Given the description of an element on the screen output the (x, y) to click on. 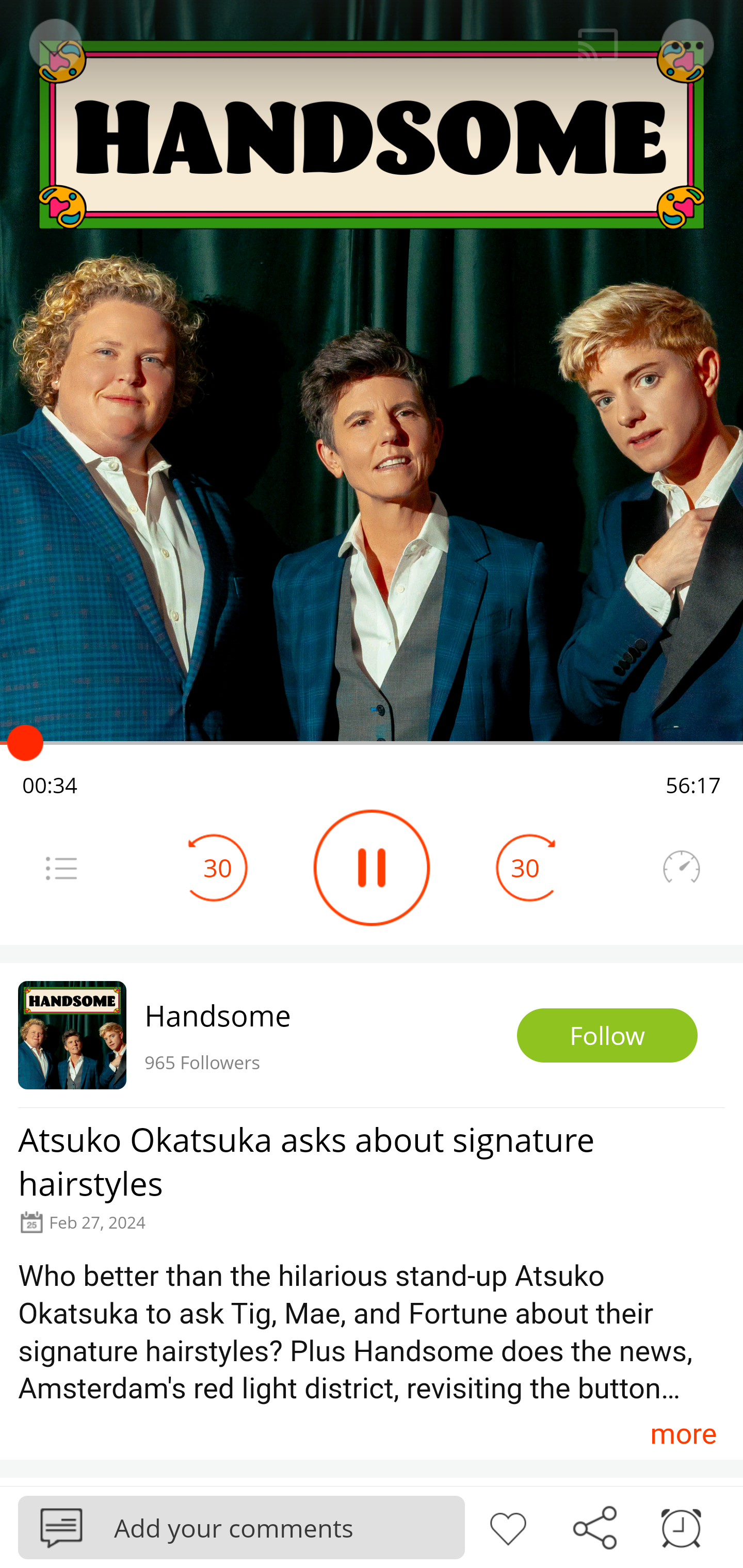
Back (53, 45)
Cast. Disconnected (597, 45)
Menu (688, 45)
Play (371, 867)
30 Seek Backward (217, 867)
30 Seek Forward (525, 867)
Menu (60, 867)
Speedometer (681, 867)
Handsome 965 Followers Follow (371, 1034)
Follow (607, 1035)
more (682, 1432)
Like (508, 1526)
Share (594, 1526)
Sleep timer (681, 1526)
Podbean Add your comments (241, 1526)
